Given the description of an element on the screen output the (x, y) to click on. 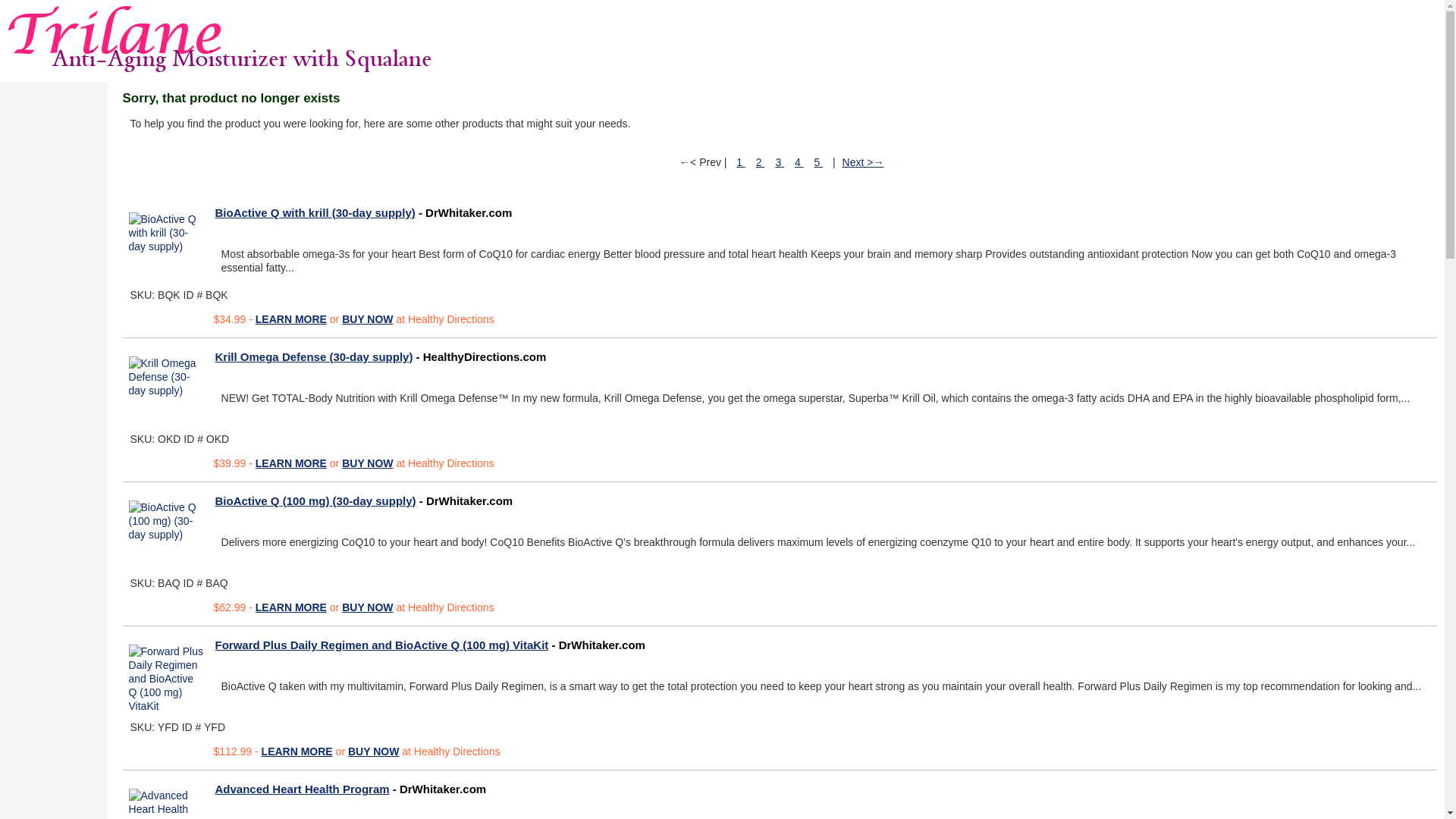
Doctor Formulated Supplements (217, 38)
LEARN MORE (291, 463)
Advanced Heart Health Program (166, 800)
BUY NOW (367, 463)
Advanced Heart Health Program (302, 788)
BUY NOW (372, 751)
LEARN MORE (291, 318)
BUY NOW (367, 318)
LEARN MORE (297, 751)
LEARN MORE (291, 607)
BUY NOW (367, 607)
